Given the description of an element on the screen output the (x, y) to click on. 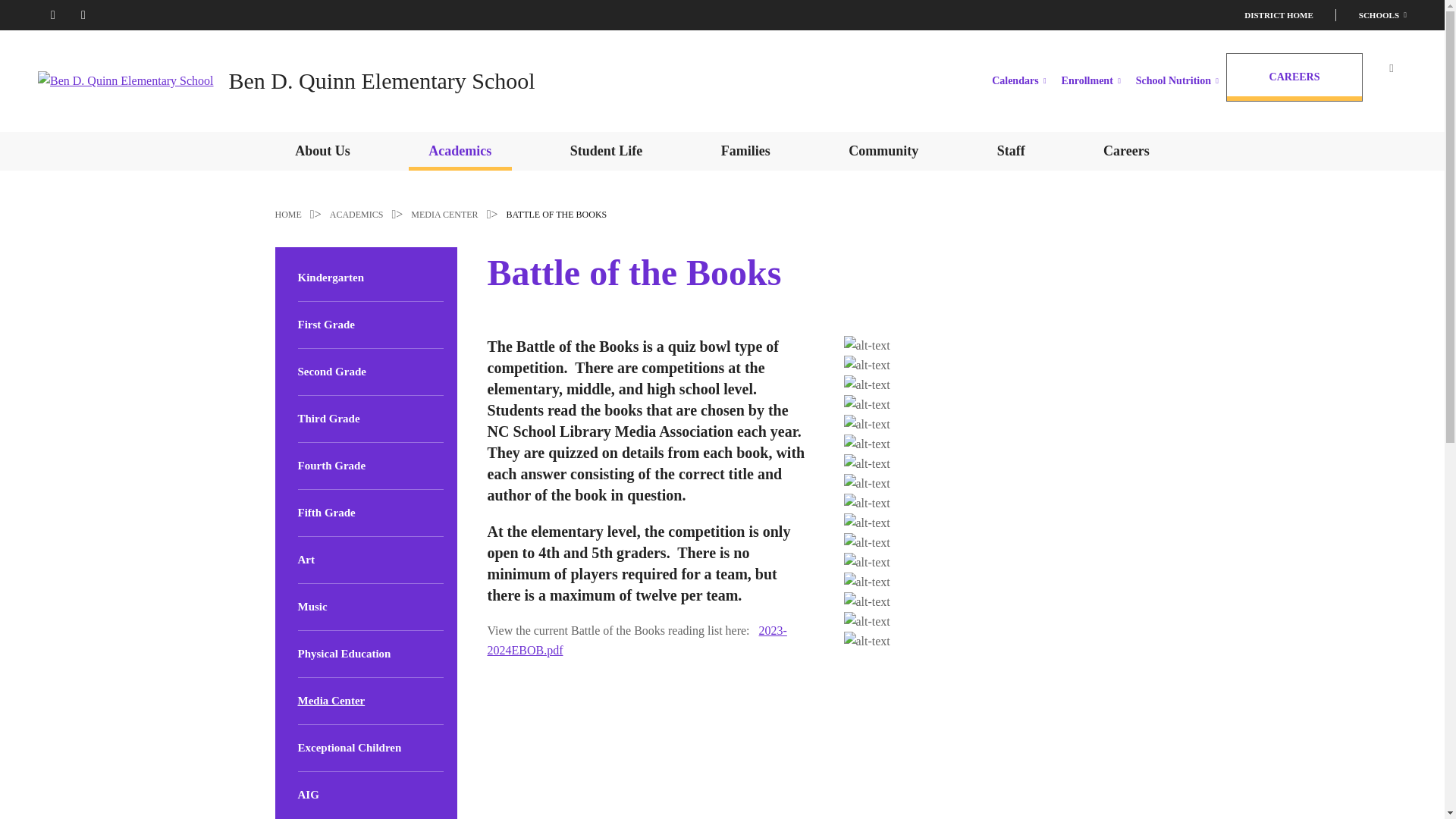
2023-2024 Battle of the Books List (636, 640)
